Given the description of an element on the screen output the (x, y) to click on. 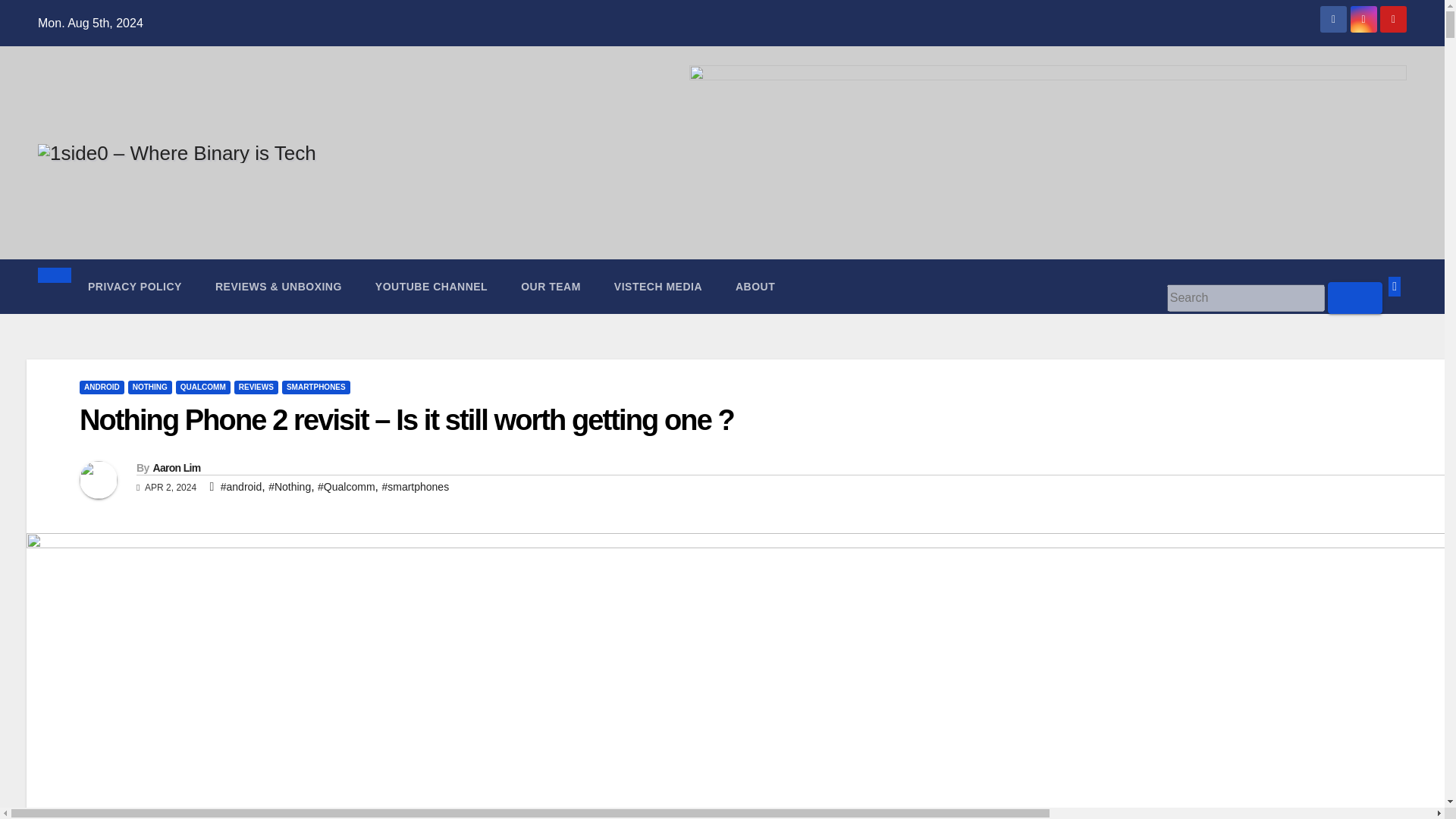
ANDROID (101, 386)
PRIVACY POLICY (134, 286)
Vistech Media (657, 286)
Our Team (549, 286)
YouTube Channel (430, 286)
Aaron Lim (176, 467)
SMARTPHONES (316, 386)
About (755, 286)
Privacy Policy (134, 286)
YOUTUBE CHANNEL (430, 286)
VISTECH MEDIA (657, 286)
NOTHING (149, 386)
OUR TEAM (549, 286)
REVIEWS (256, 386)
ABOUT (755, 286)
